Given the description of an element on the screen output the (x, y) to click on. 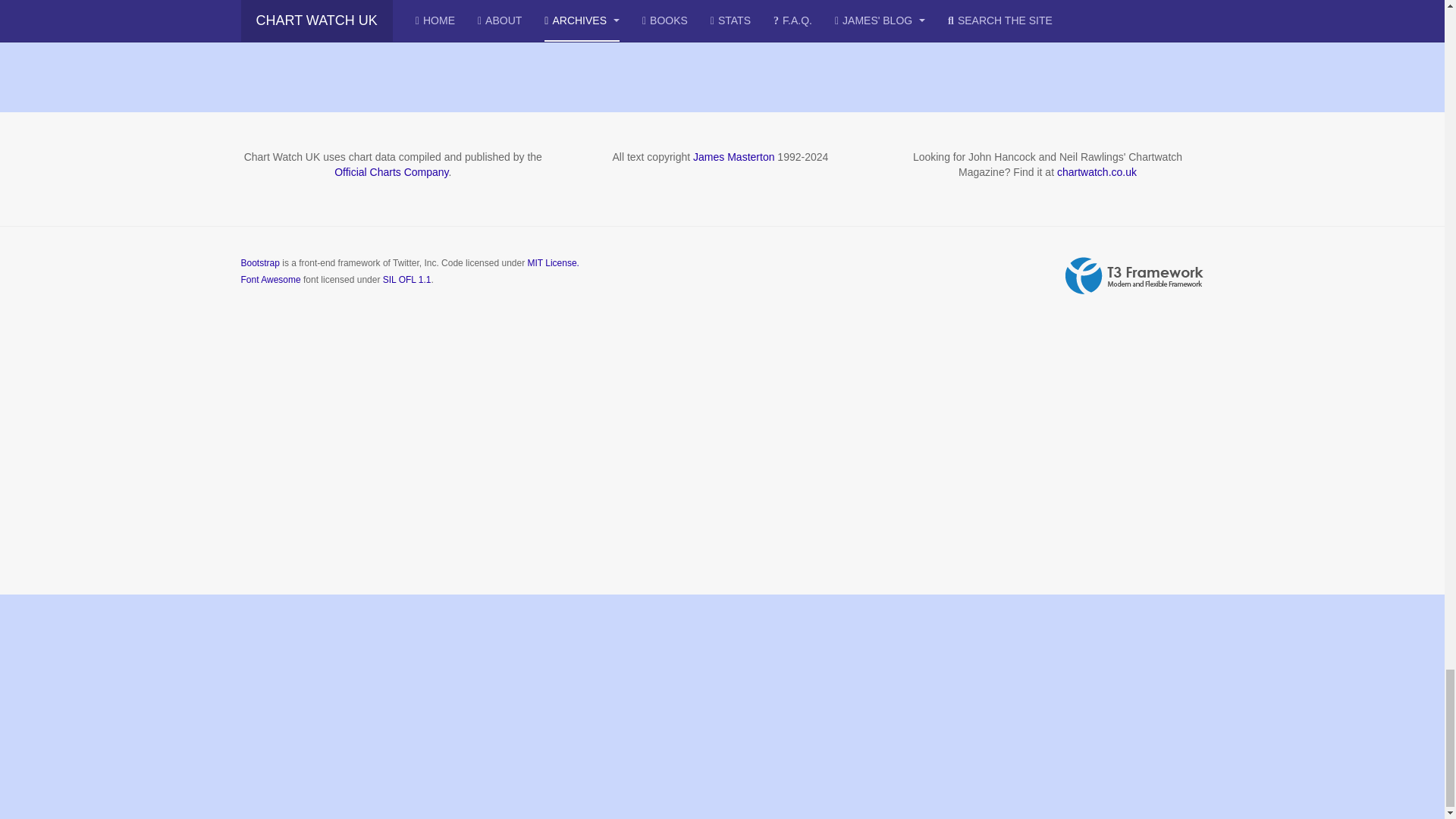
Powered By T3 Framework (1134, 275)
MIT License (552, 262)
Bootstrap by Twitter (260, 262)
